Given the description of an element on the screen output the (x, y) to click on. 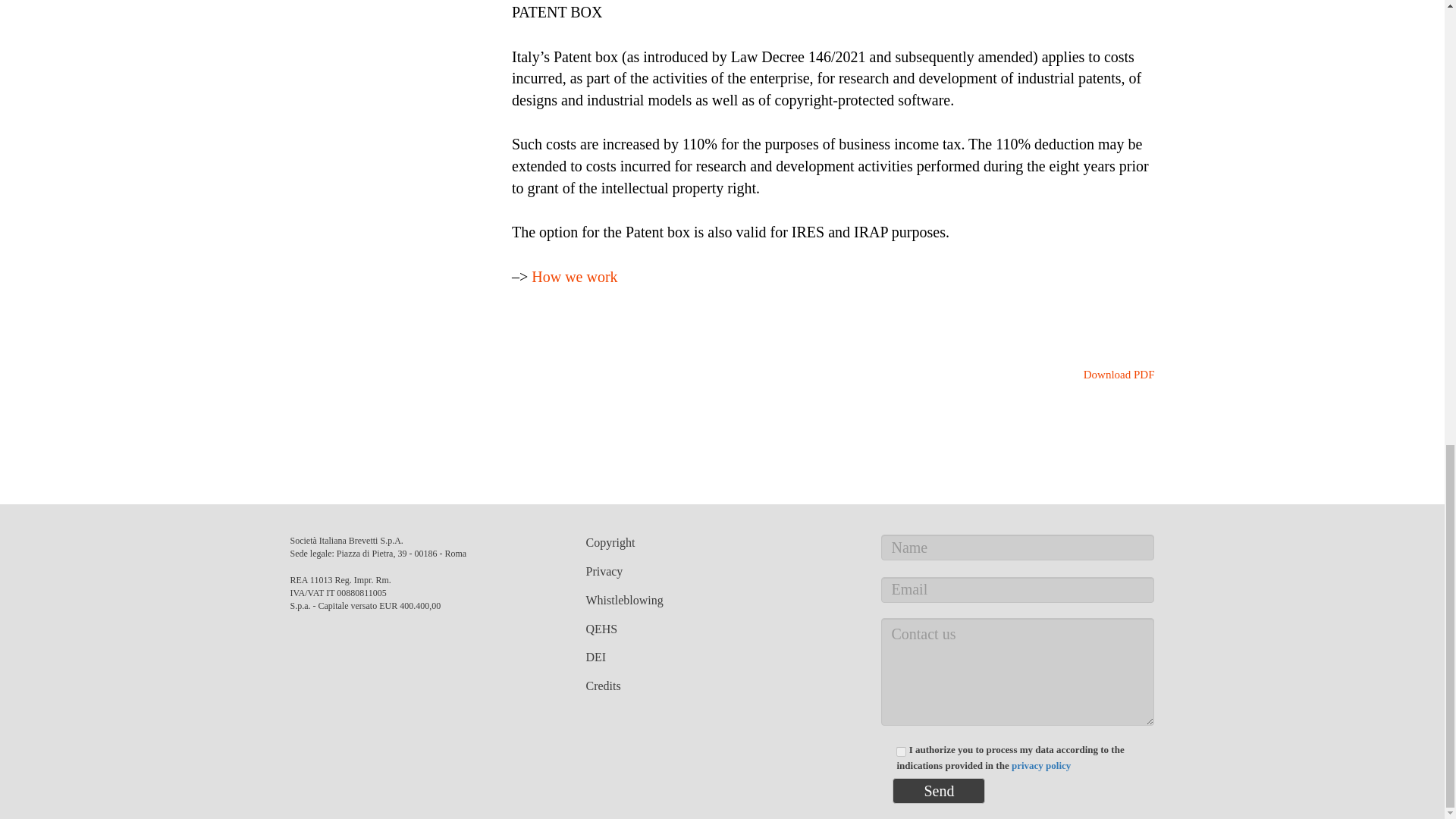
QEHS (601, 628)
Whistleblowing (623, 599)
Copyright (609, 542)
DEI (595, 656)
1 (900, 751)
Send (938, 790)
Download PDF (1110, 374)
Privacy (604, 571)
How we work (574, 276)
